Given the description of an element on the screen output the (x, y) to click on. 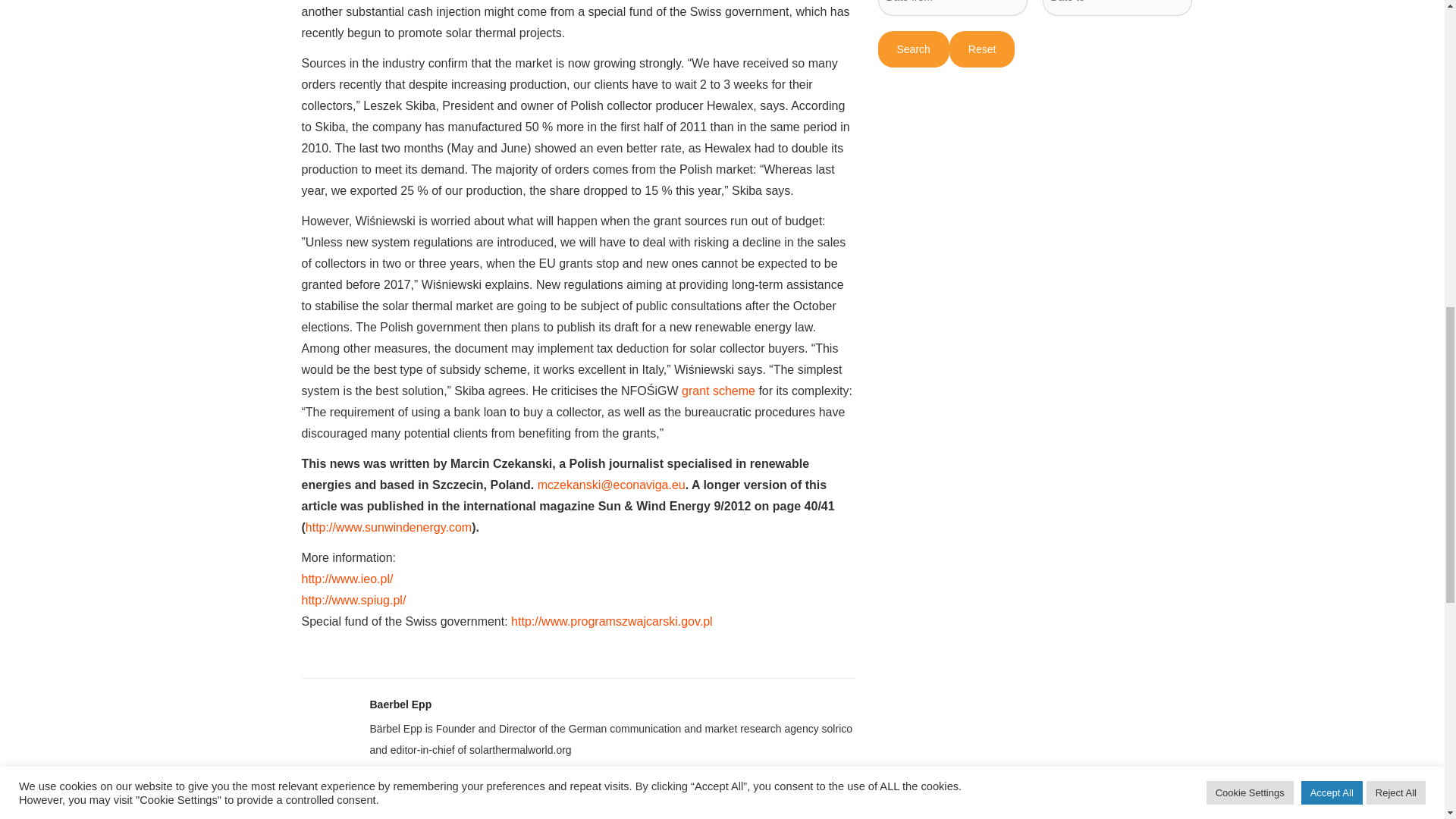
grant scheme (718, 390)
Reset (981, 49)
Reset (981, 49)
Search (913, 49)
